Given the description of an element on the screen output the (x, y) to click on. 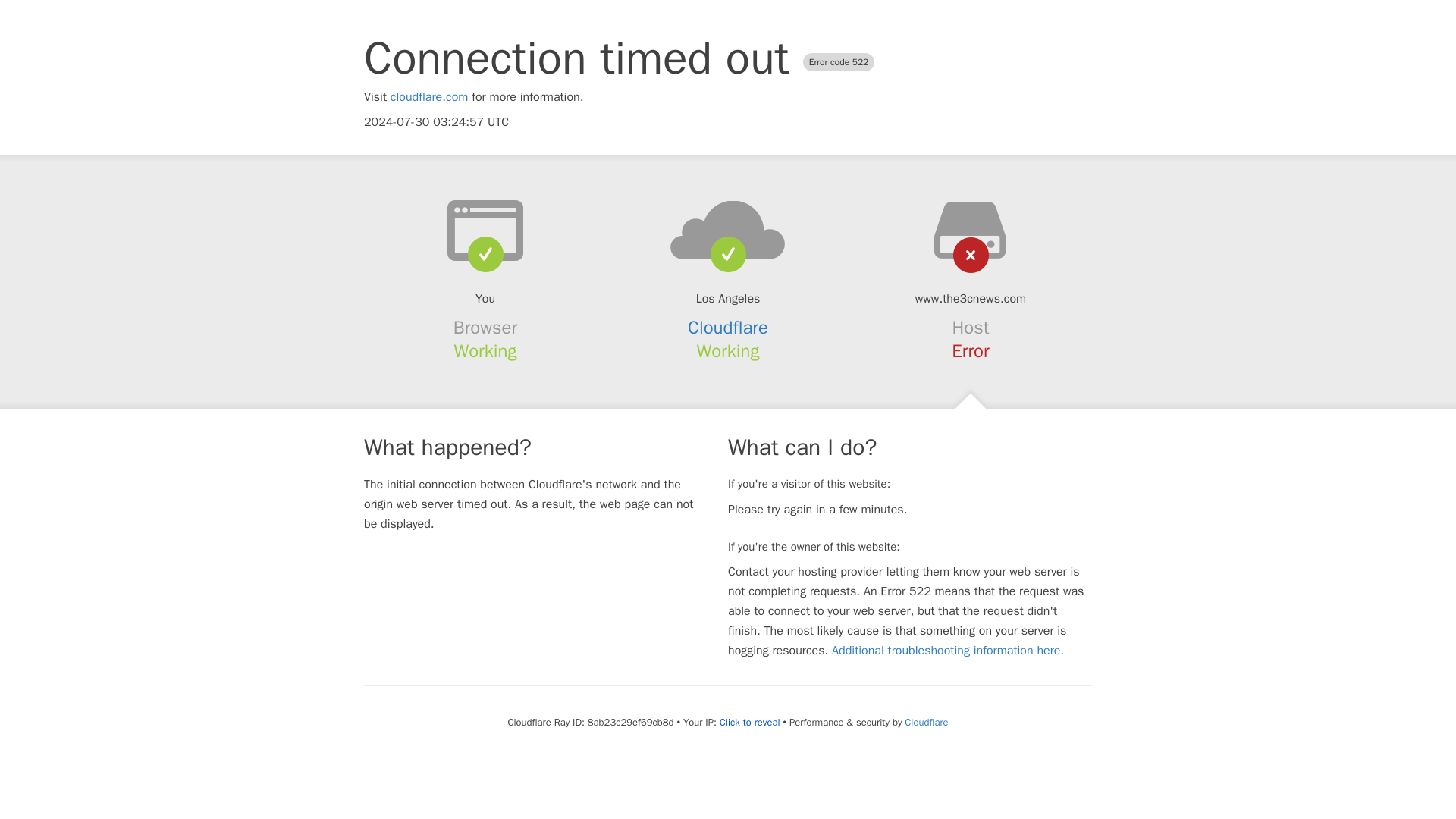
cloudflare.com (429, 96)
Click to reveal (749, 722)
Cloudflare (925, 721)
Additional troubleshooting information here. (947, 650)
Cloudflare (727, 327)
